Given the description of an element on the screen output the (x, y) to click on. 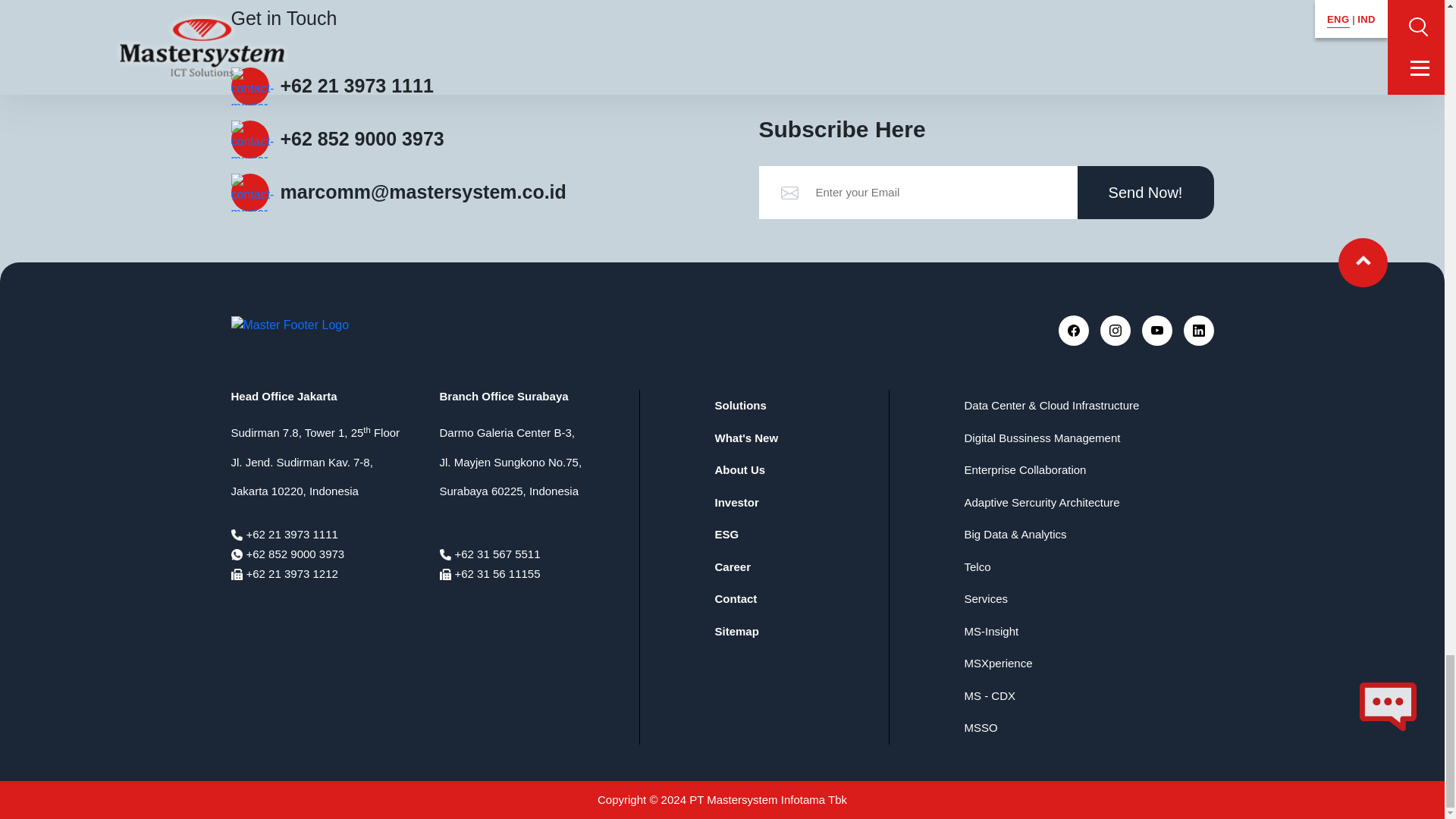
Send Now! (1144, 192)
